Given the description of an element on the screen output the (x, y) to click on. 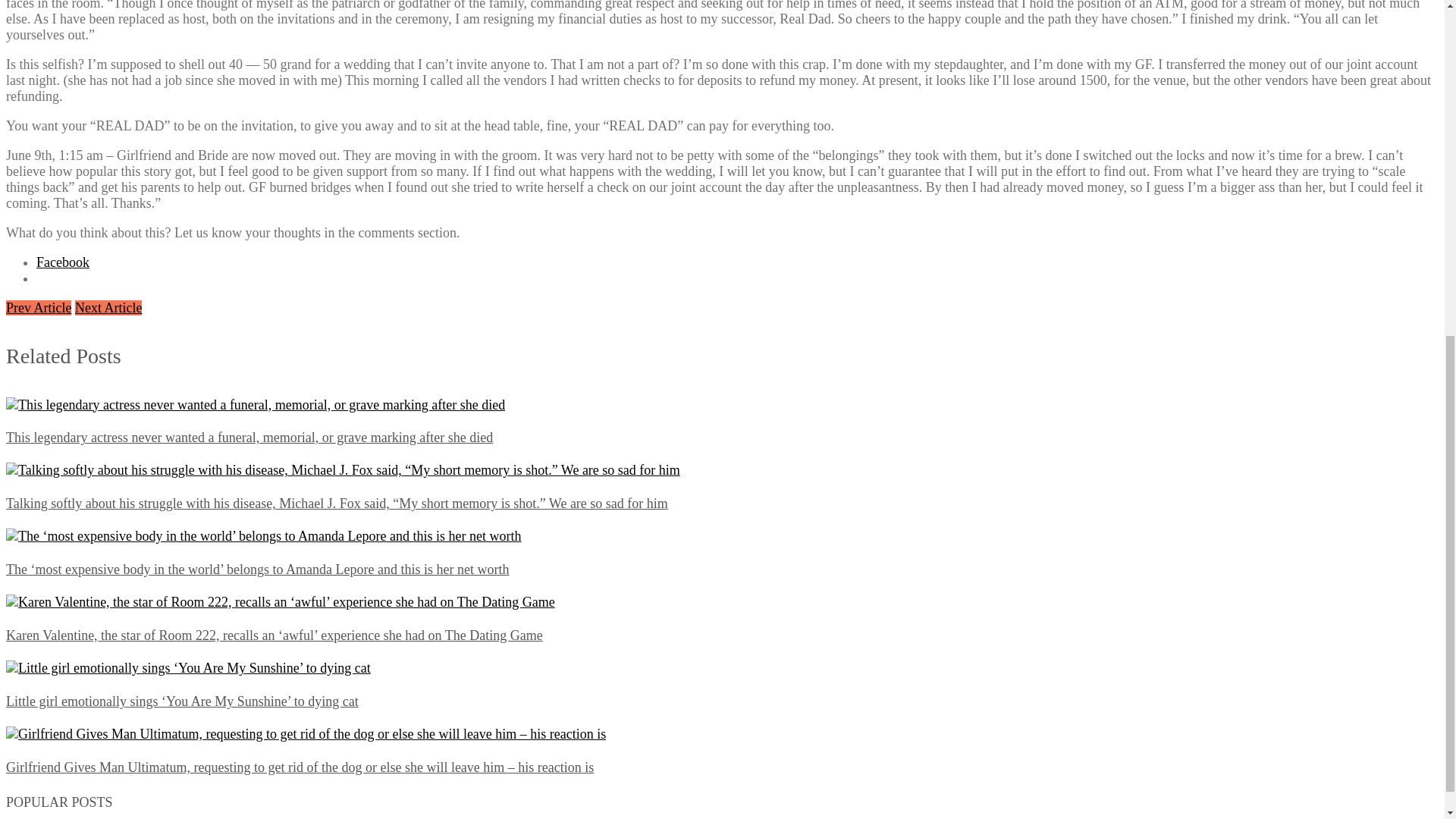
Prev Article (38, 307)
Facebook (62, 262)
Next Article (108, 307)
